Given the description of an element on the screen output the (x, y) to click on. 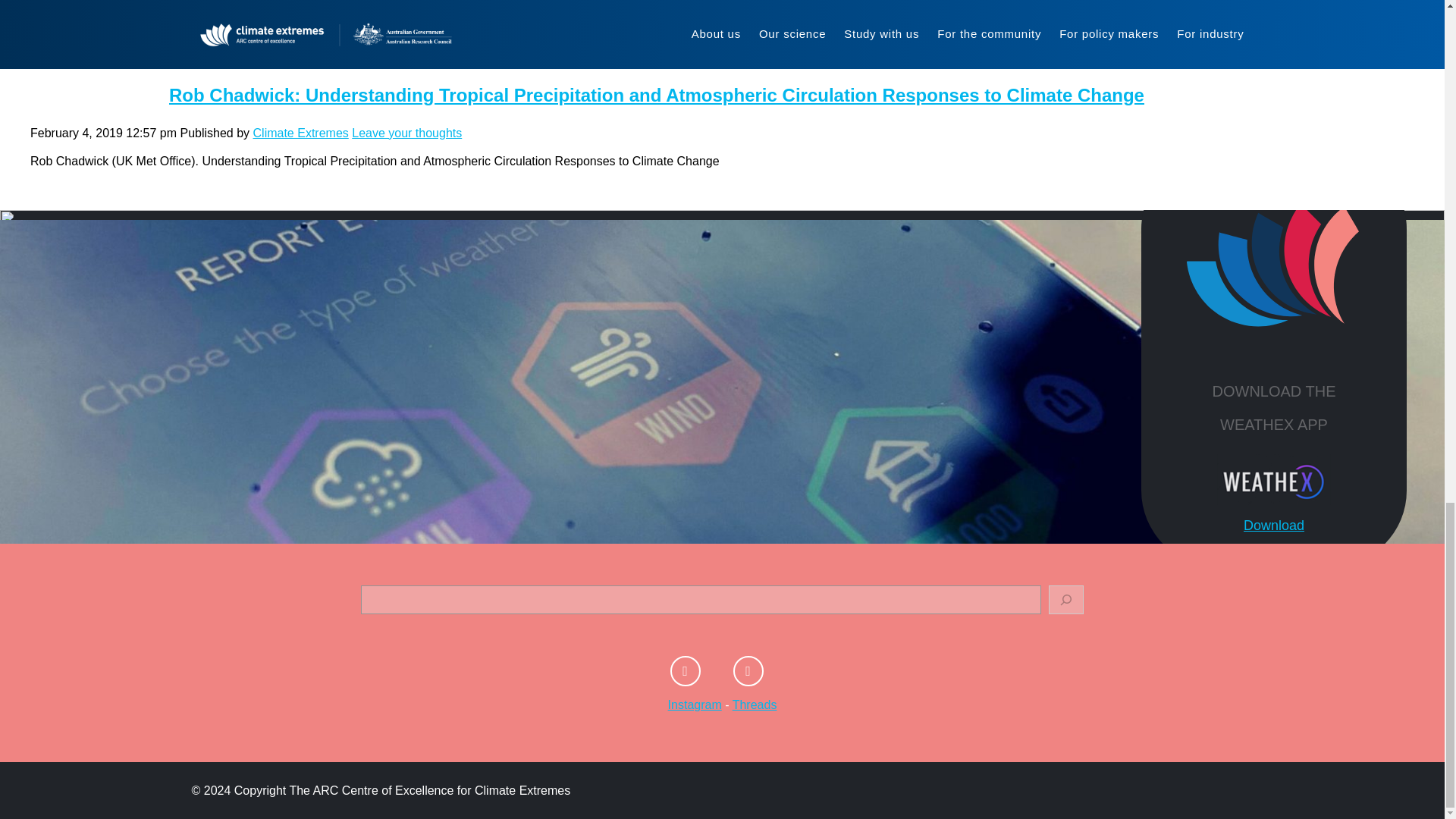
Posts by Climate Extremes (301, 132)
Posts by Climate Extremes (278, 33)
